Given the description of an element on the screen output the (x, y) to click on. 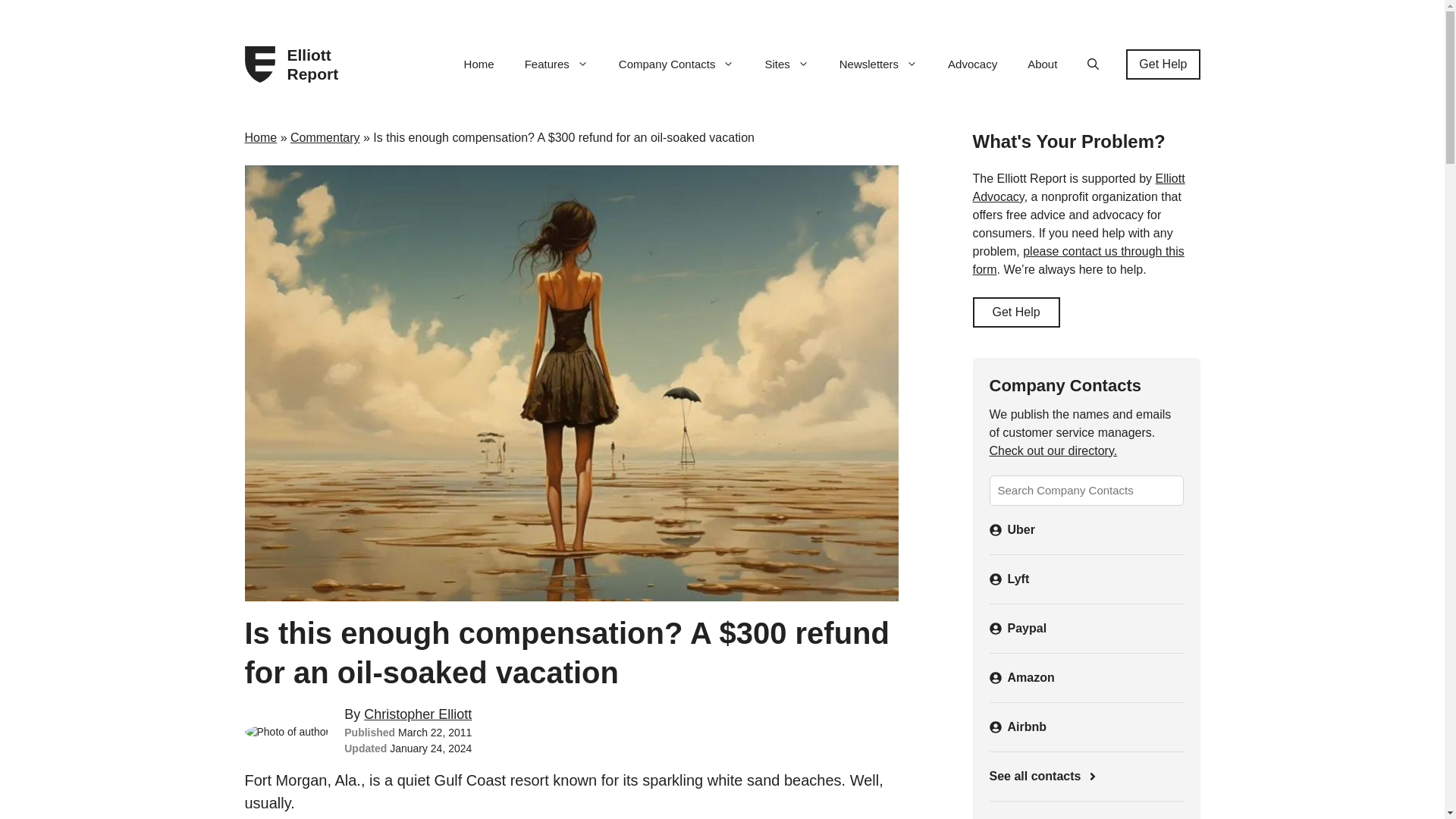
Advertisement (1085, 814)
Advocacy (972, 64)
Get Help (1162, 64)
Company Contacts (676, 64)
Home (478, 64)
Elliott Report (318, 64)
Newsletters (878, 64)
Features (556, 64)
About (1041, 64)
Sites (786, 64)
